Given the description of an element on the screen output the (x, y) to click on. 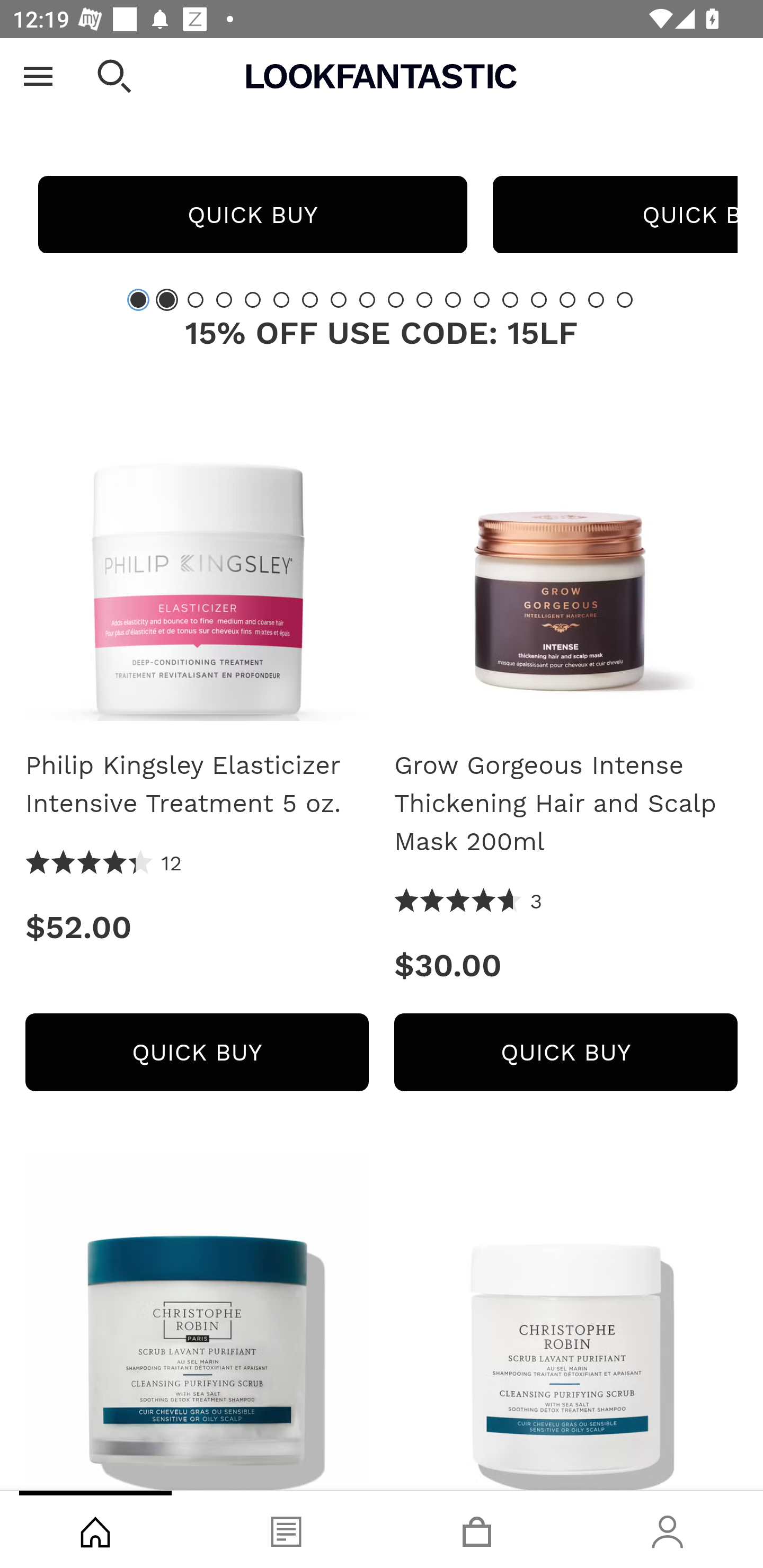
QUICK BUY NATASHA DENONA I NEED A NUDE PALETTE (252, 214)
Showing Slide 1 (Current Item) (138, 299)
Showing Slide 2 (Current Item) (166, 299)
Slide 3 (195, 299)
Slide 4 (223, 299)
Slide 5 (252, 299)
Slide 6 (281, 299)
Slide 7 (310, 299)
Slide 8 (338, 299)
Slide 9 (367, 299)
Slide 10 (395, 299)
Slide 11 (424, 299)
Slide 12 (452, 299)
Slide 13 (481, 299)
Slide 14 (510, 299)
Slide 15 (539, 299)
Slide 16 (567, 299)
Slide 17 (596, 299)
Slide 18 (624, 299)
4.33 Stars 12 Reviews (104, 862)
4.67 Stars 3 Reviews (468, 901)
Price: $52.00 (196, 927)
Price: $30.00 (565, 964)
Shop, tab, 1 of 4 (95, 1529)
Blog, tab, 2 of 4 (285, 1529)
Basket, tab, 3 of 4 (476, 1529)
Account, tab, 4 of 4 (667, 1529)
